Given the description of an element on the screen output the (x, y) to click on. 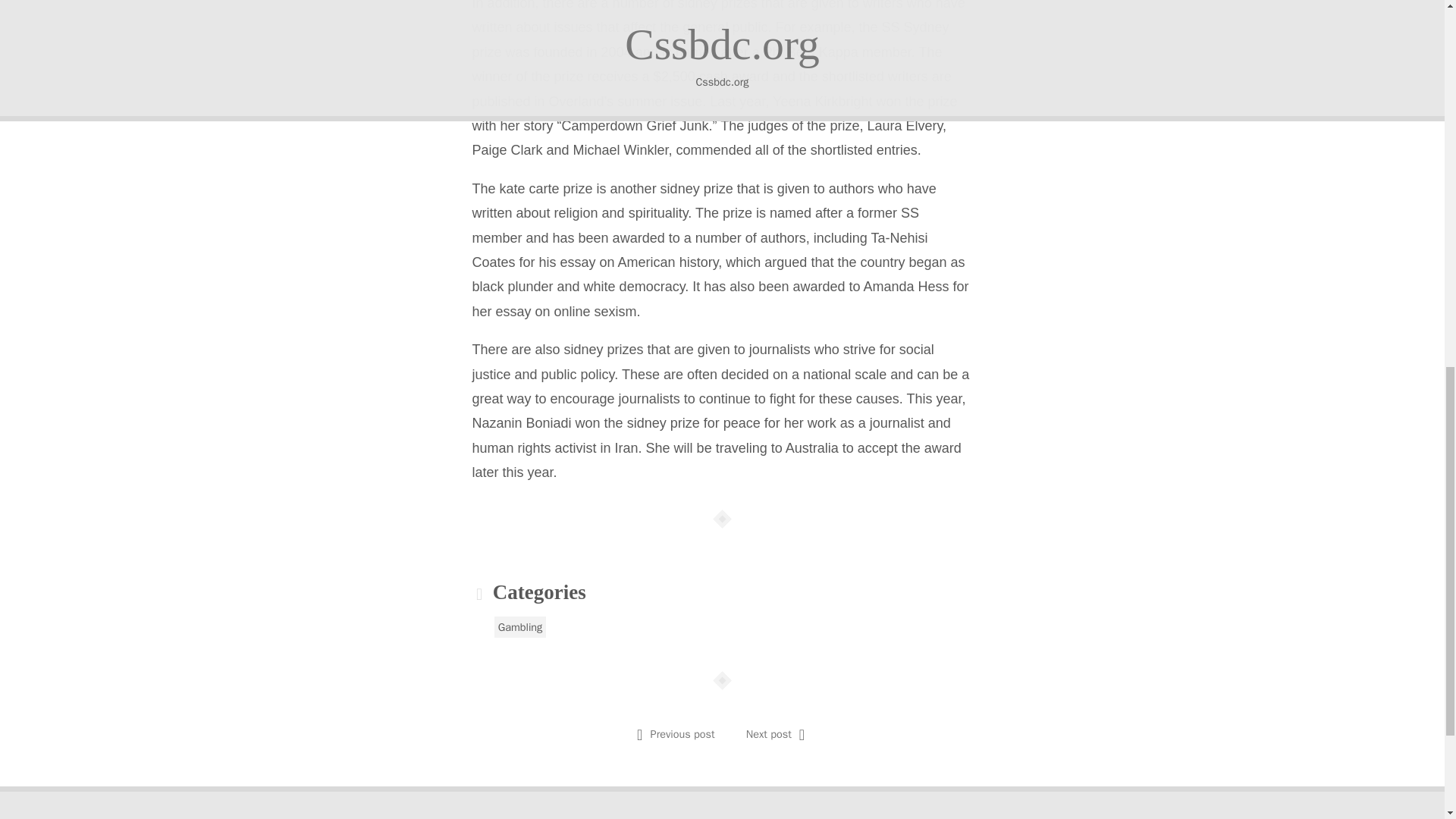
Gambling (521, 627)
Previous post (682, 734)
Next post (768, 734)
